Given the description of an element on the screen output the (x, y) to click on. 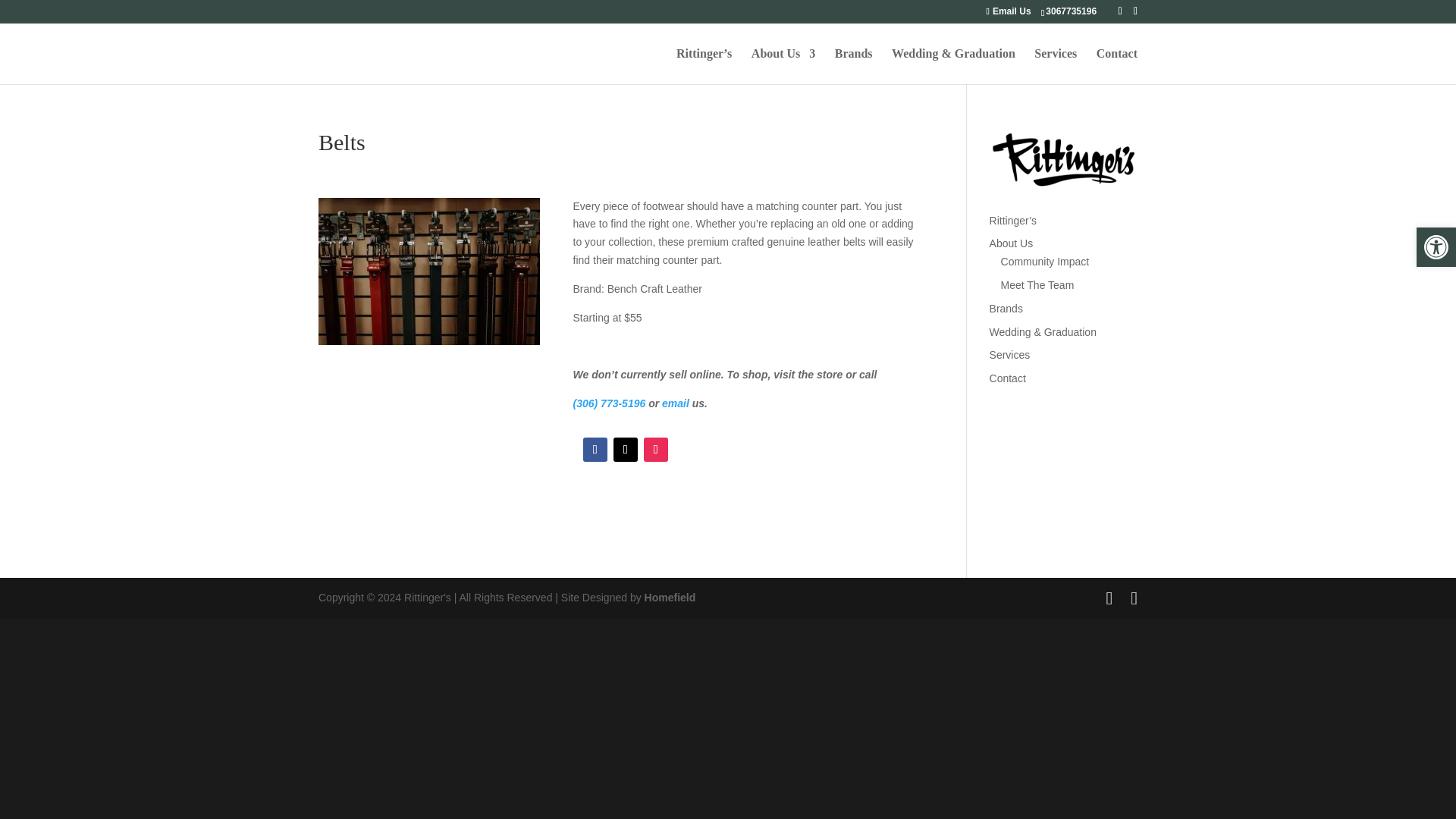
Contact (1116, 66)
Brands (853, 66)
Accessibility Tools (1435, 247)
Email Us (1007, 10)
About Us (783, 66)
email  (677, 403)
3067735196 (1073, 10)
Services (1055, 66)
